Given the description of an element on the screen output the (x, y) to click on. 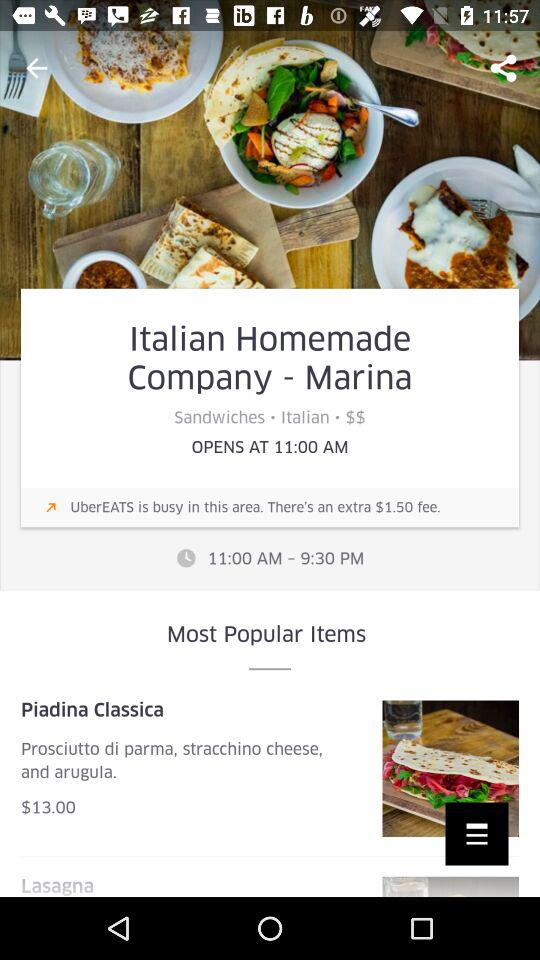
click the item above italian homemade company item (36, 68)
